Given the description of an element on the screen output the (x, y) to click on. 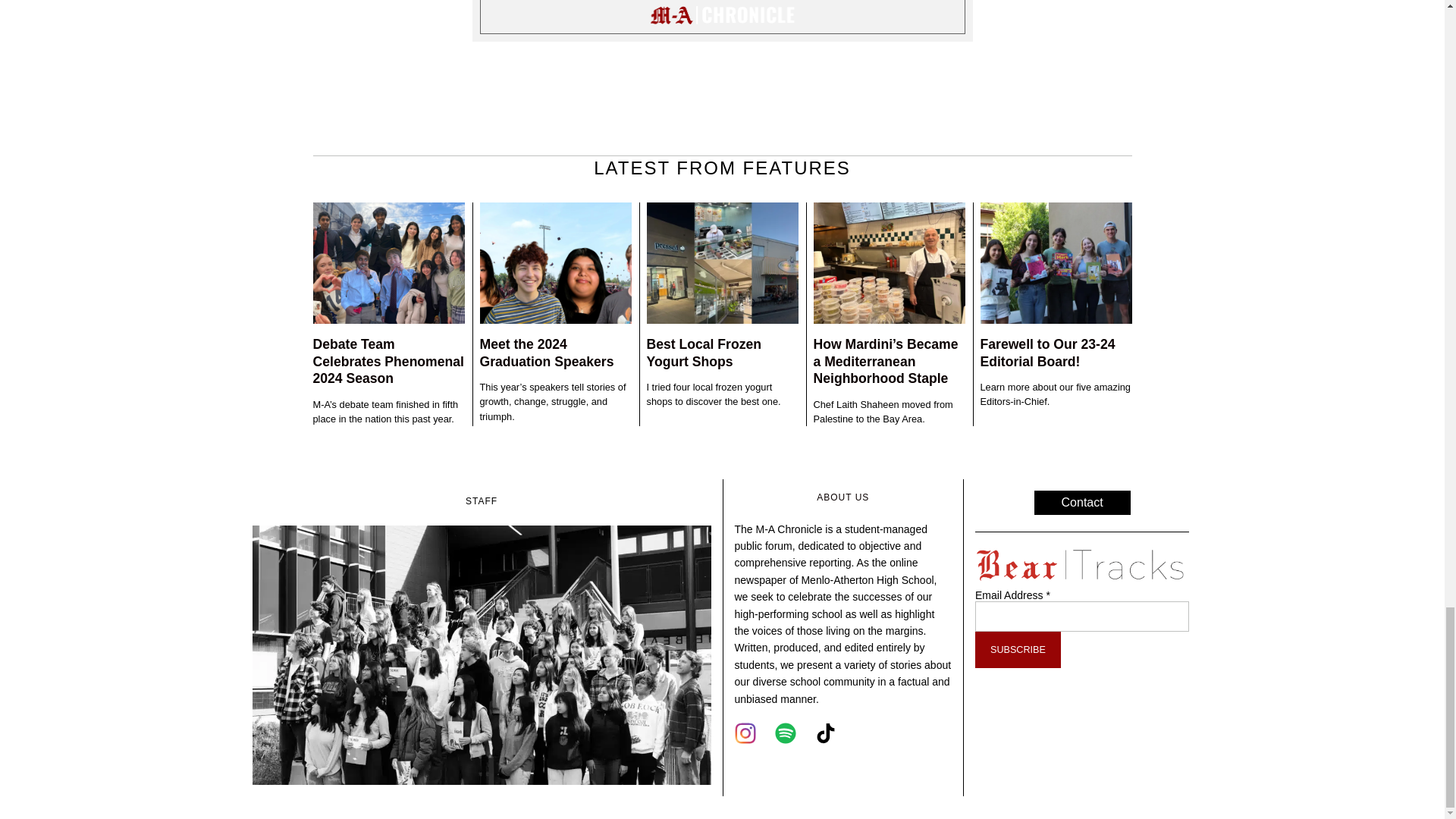
Best Local Frozen Yogurt Shops (703, 352)
Debate Team Celebrates Phenomenal 2024 Season (388, 361)
ABOUT US (842, 497)
Meet the 2024 Graduation Speakers (545, 352)
Farewell to Our 23-24 Editorial Board! (1047, 352)
Subscribe (1018, 649)
